Given the description of an element on the screen output the (x, y) to click on. 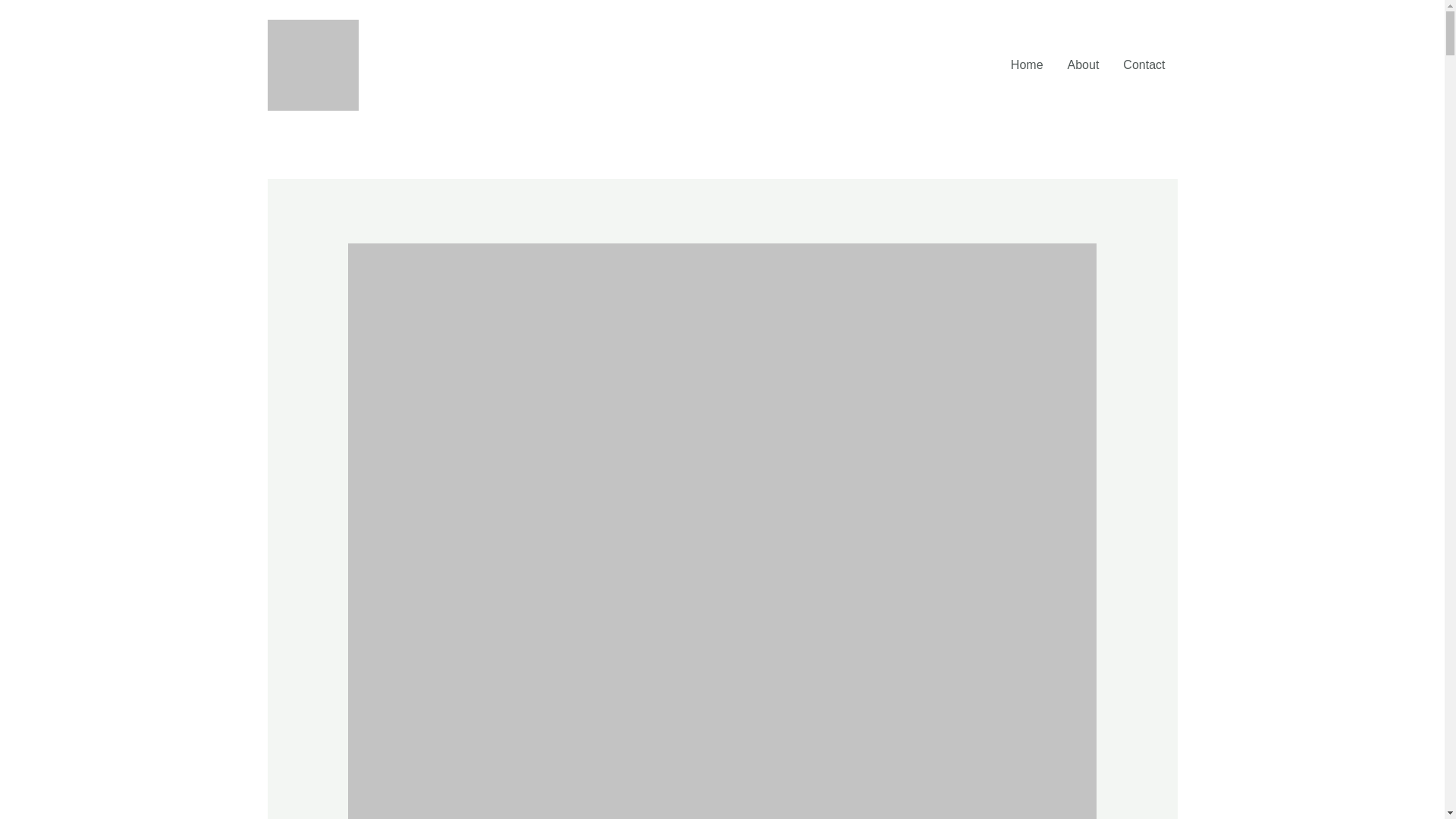
About (1083, 64)
Home (1026, 64)
Contact (1143, 64)
